Given the description of an element on the screen output the (x, y) to click on. 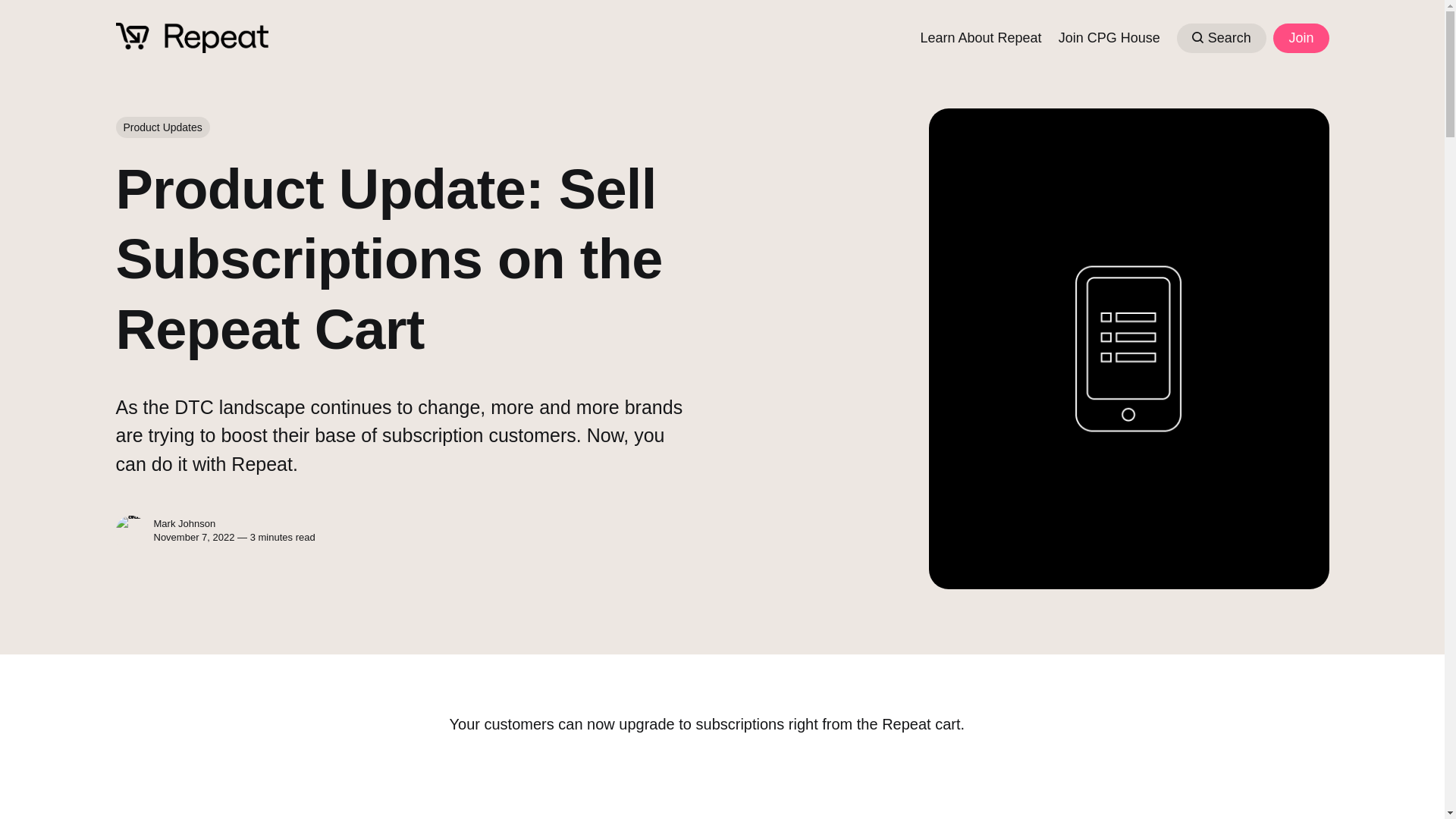
Mark Johnson (183, 523)
Learn About Repeat (980, 37)
Product Update: Sell Subscriptions On the Repeat Cart (721, 792)
Mark Johnson (130, 530)
Join (1299, 37)
Product Updates (162, 127)
Join CPG House (1109, 37)
